Given the description of an element on the screen output the (x, y) to click on. 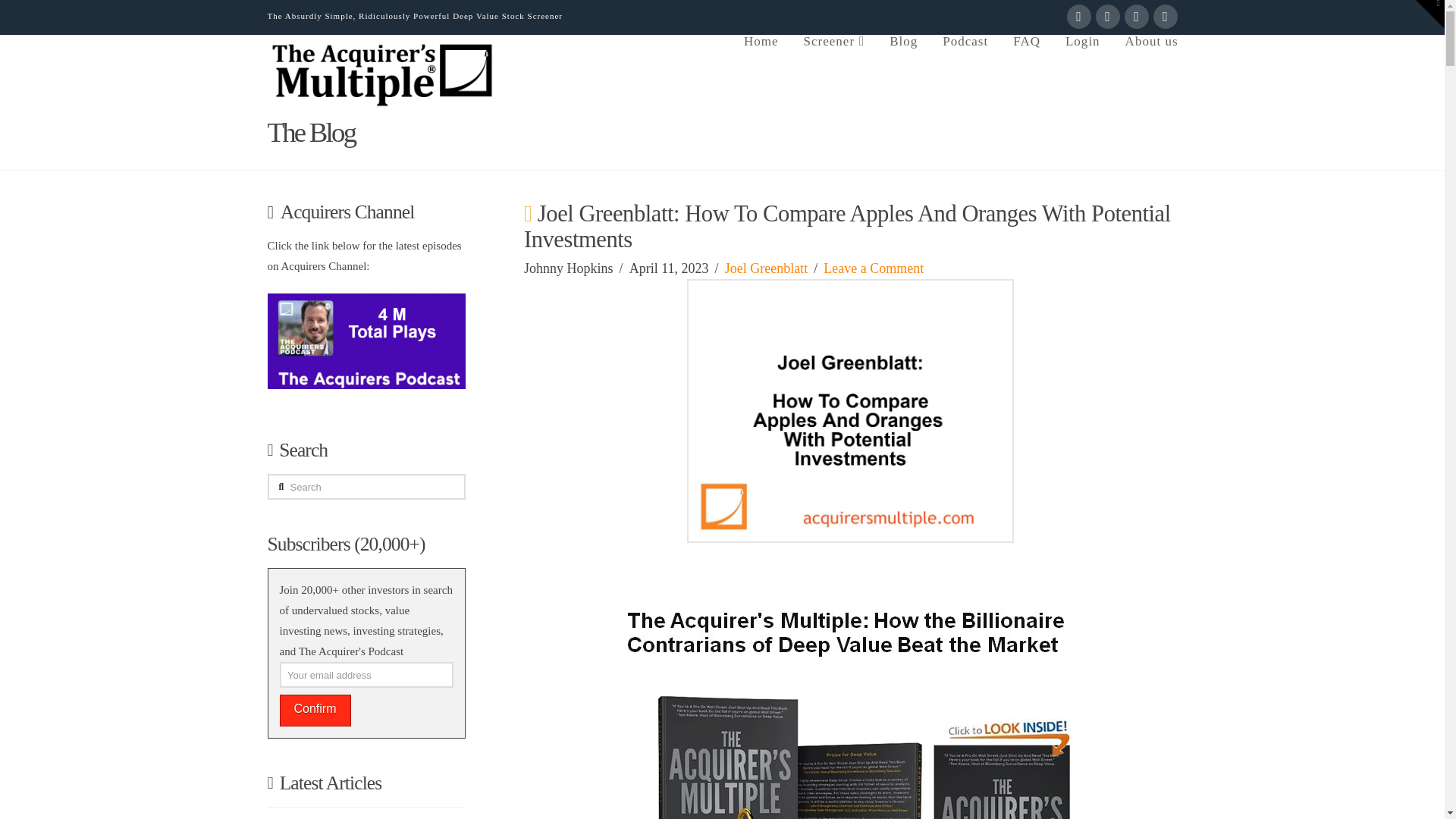
Podcast (965, 65)
LinkedIn (1136, 16)
RSS (1164, 16)
About us (1144, 65)
Confirm (314, 710)
Facebook (1077, 16)
Home (760, 65)
Login (1082, 65)
Joel Greenblatt (766, 268)
Screener (833, 65)
